Given the description of an element on the screen output the (x, y) to click on. 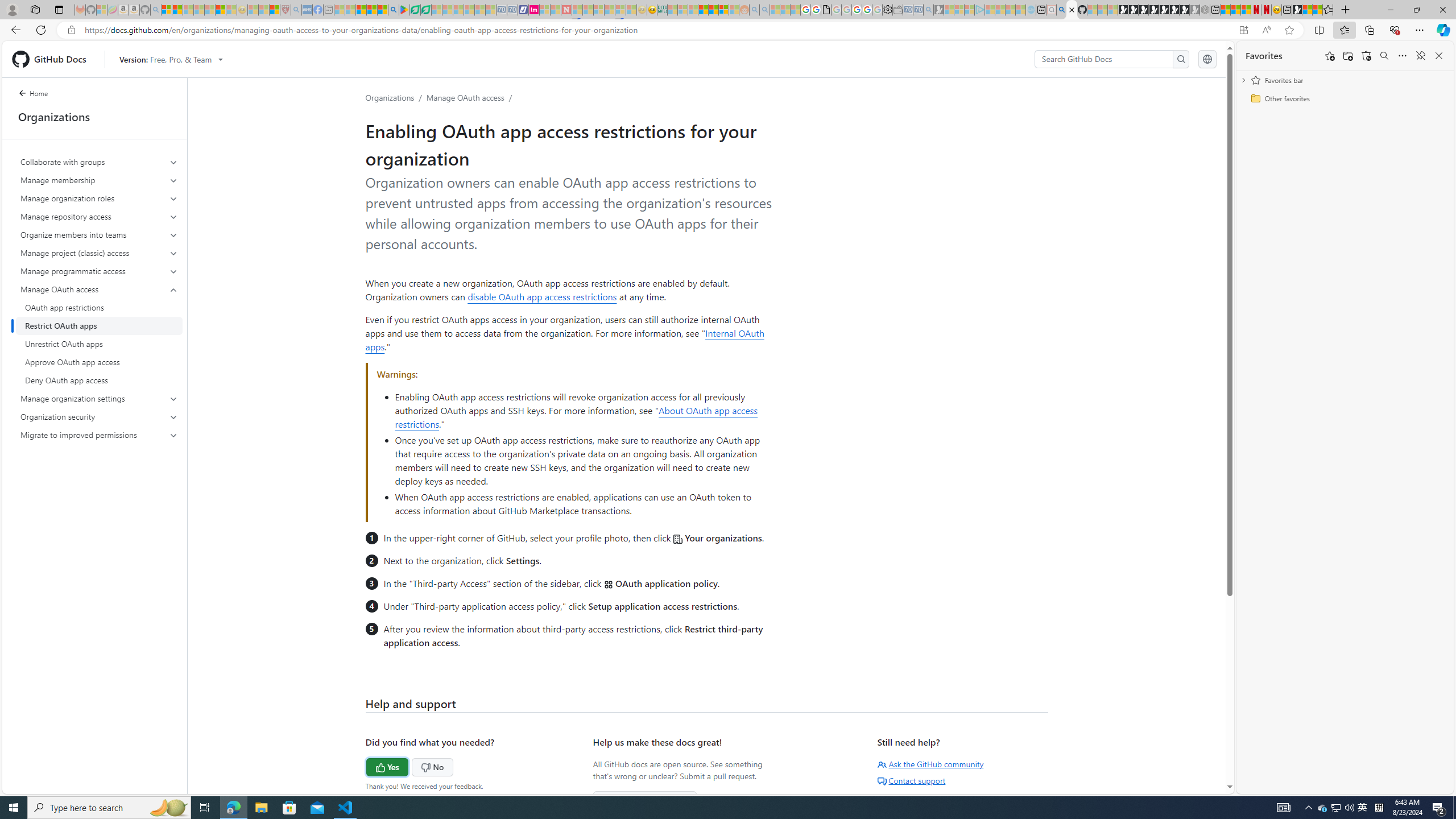
Settings and more (Alt+F) (1419, 29)
NCL Adult Asthma Inhaler Choice Guideline - Sleeping (307, 9)
Microsoft-Report a Concern to Bing - Sleeping (101, 9)
Manage organization roles (99, 198)
Play Cave FRVR in your browser | Games from Microsoft Start (1143, 9)
